Given the description of an element on the screen output the (x, y) to click on. 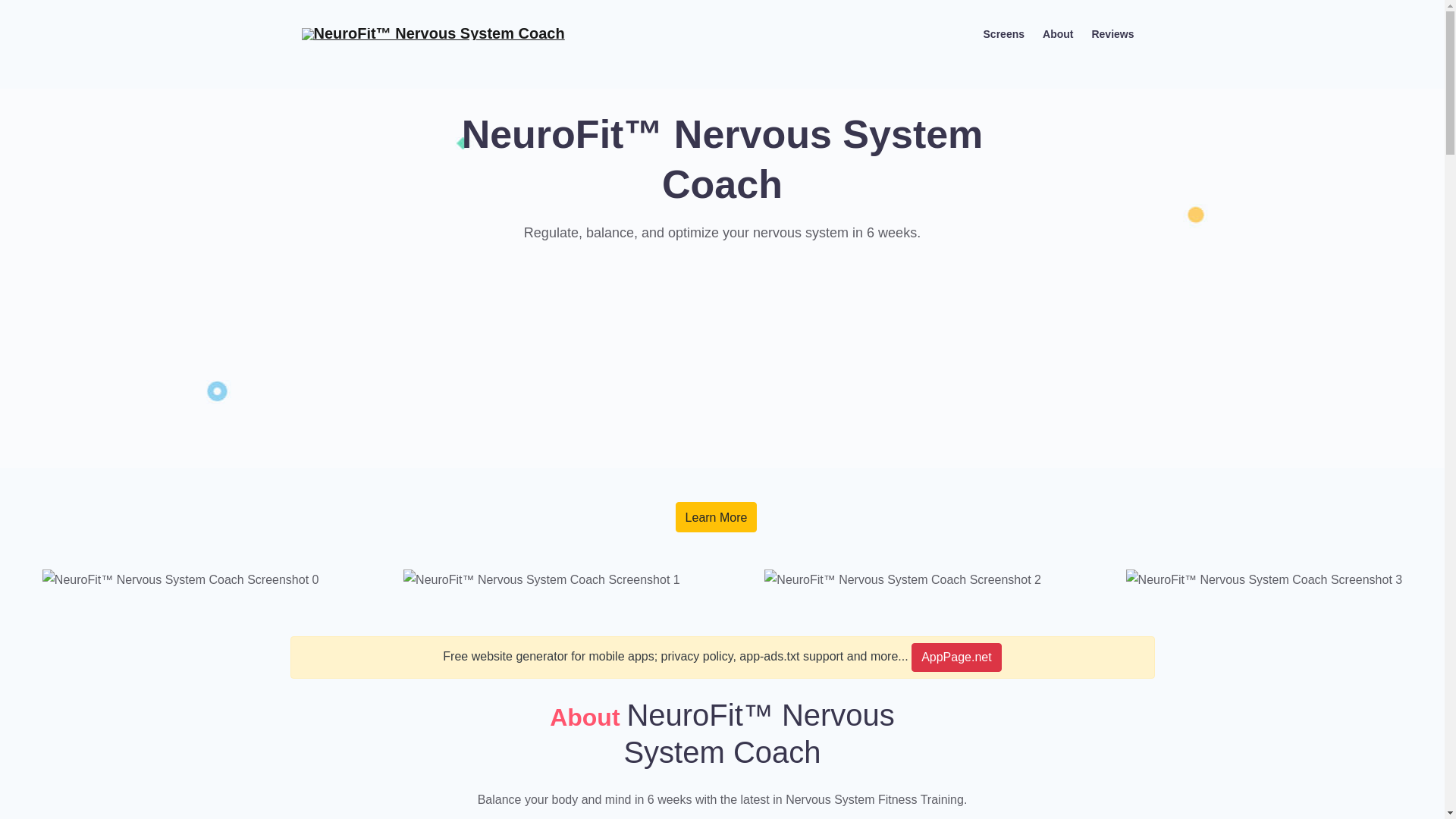
About (1057, 33)
AppPage.net (956, 656)
Learn More (716, 517)
About (1057, 33)
Learn More (716, 517)
Learn More (716, 517)
Reviews (1111, 33)
Screens (1003, 33)
Screens (1003, 33)
Reviews (1111, 33)
